Given the description of an element on the screen output the (x, y) to click on. 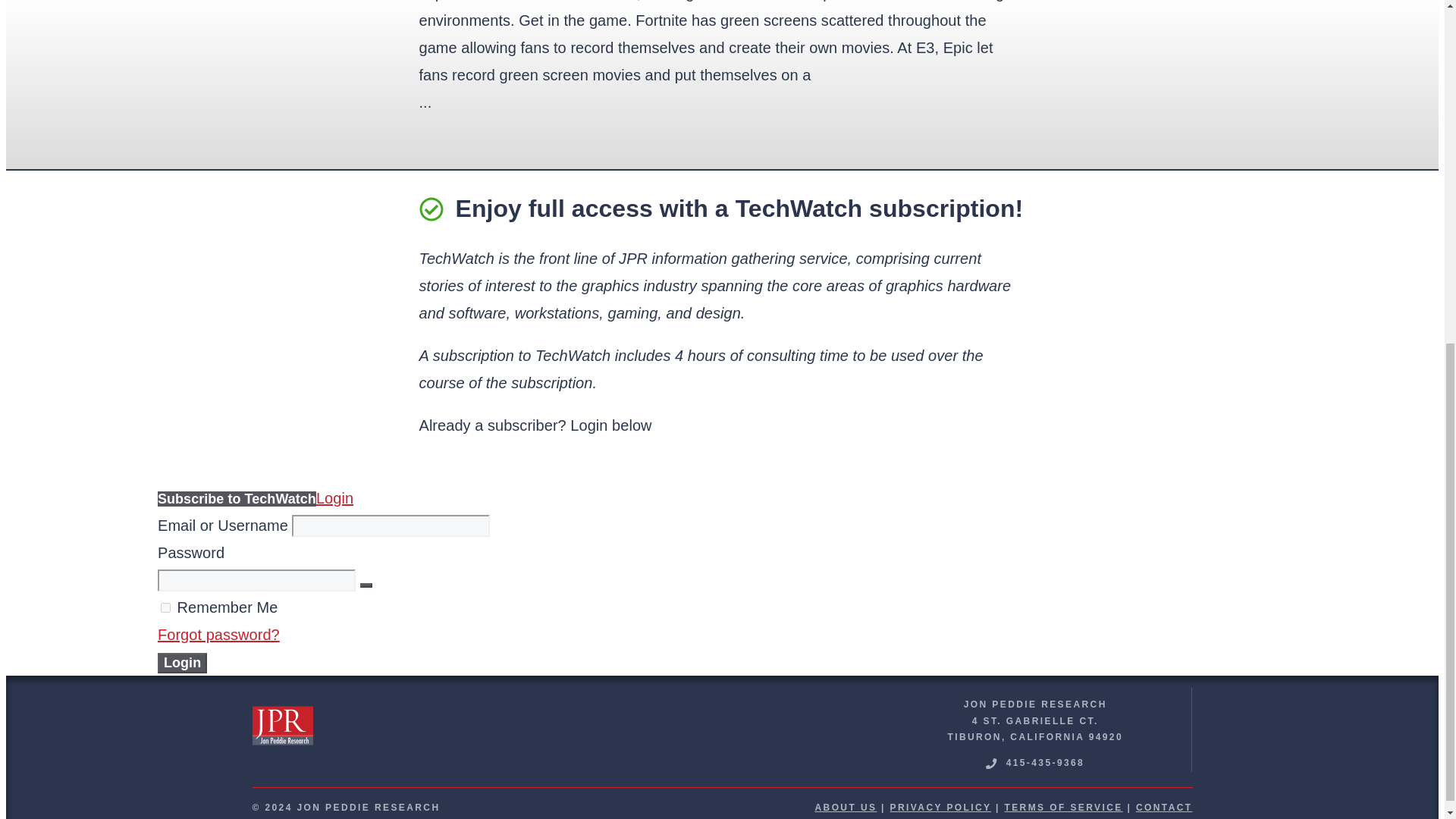
TERMS OF SERVICE (1063, 807)
Forgot password? (218, 634)
Login (181, 662)
ABOUT US (844, 807)
PRIVACY POLICY (940, 807)
Subscribe to TechWatch (236, 498)
forever (165, 607)
Login (334, 497)
CONTACT (1163, 807)
